Given the description of an element on the screen output the (x, y) to click on. 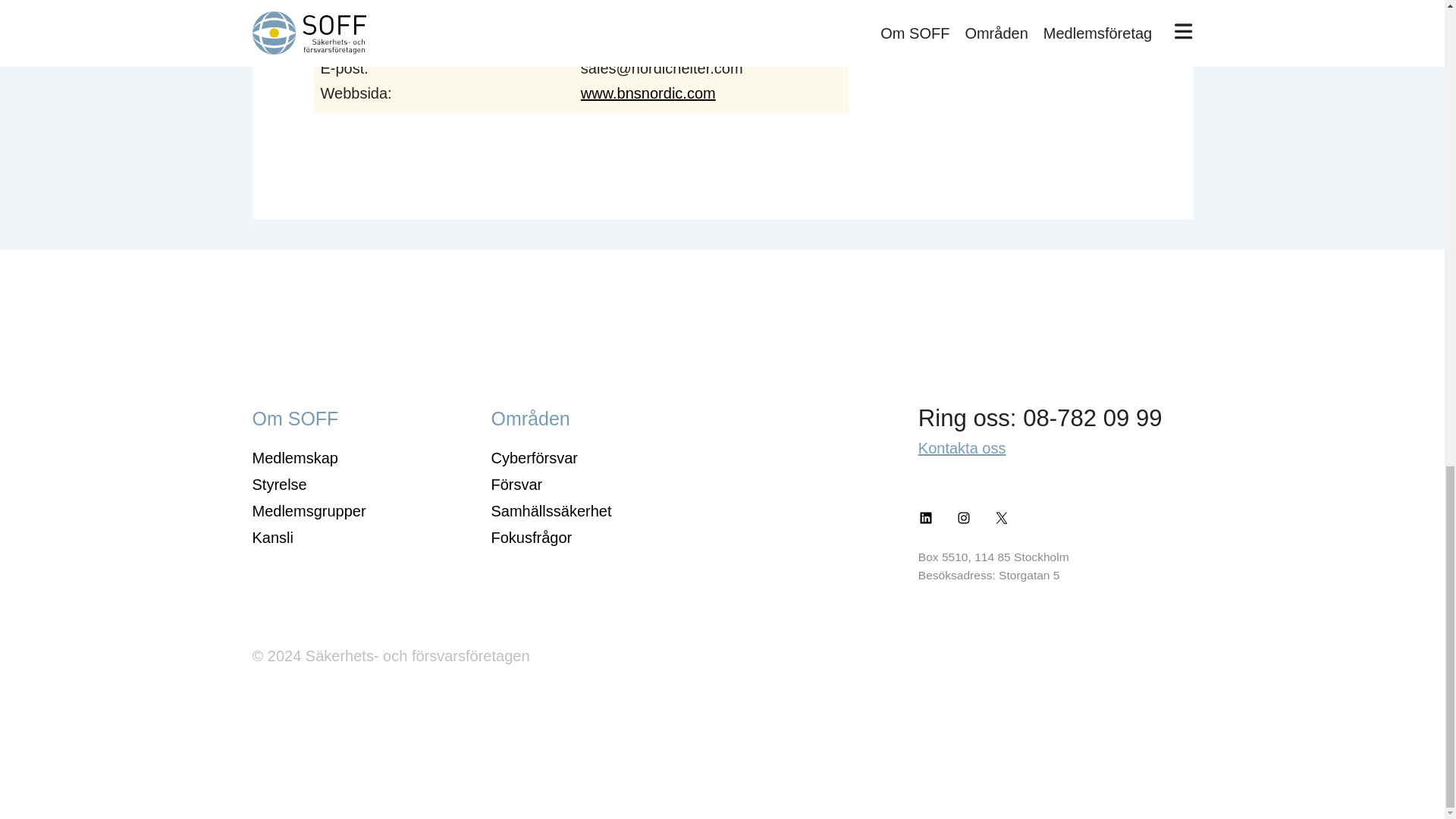
Om SOFF (294, 418)
Medlemskap (294, 457)
www.bnsnordic.com (648, 93)
Kansli (271, 537)
Medlemsgrupper (308, 510)
Styrelse (278, 484)
